Given the description of an element on the screen output the (x, y) to click on. 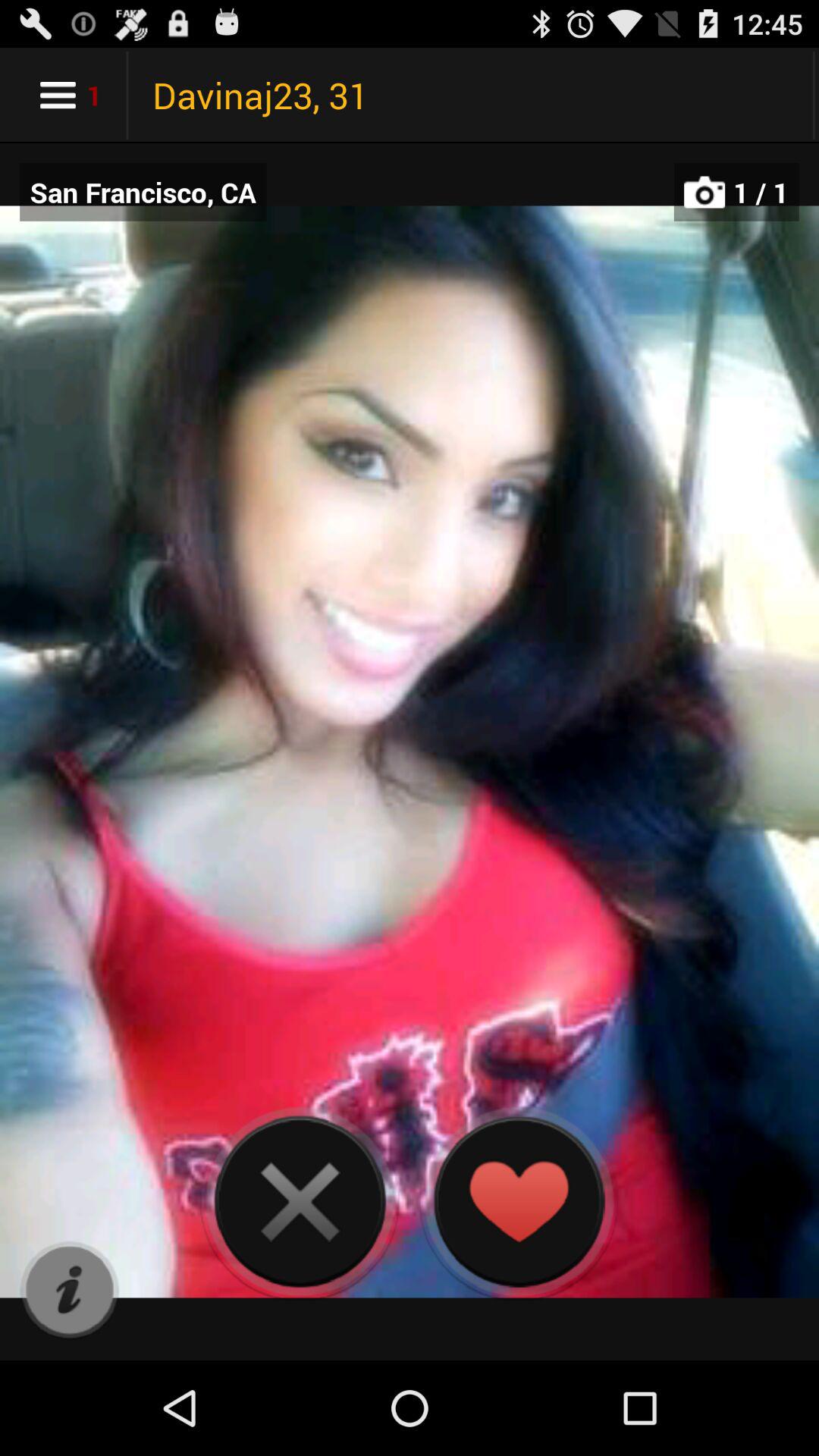
add to favorites (518, 1200)
